Given the description of an element on the screen output the (x, y) to click on. 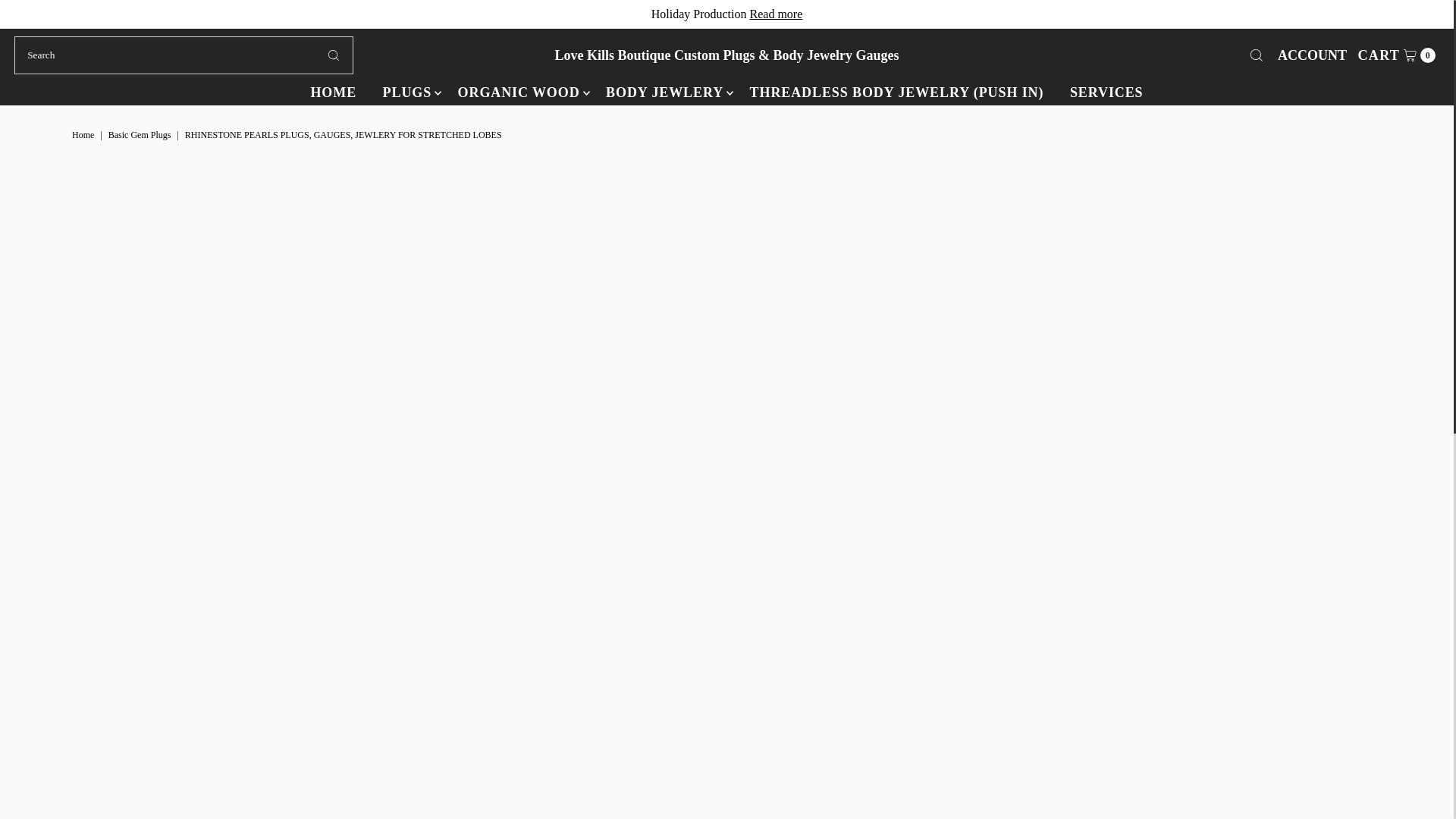
Home (84, 134)
Basic Gem Plugs (140, 134)
Holiday Production Breaks (775, 13)
